Given the description of an element on the screen output the (x, y) to click on. 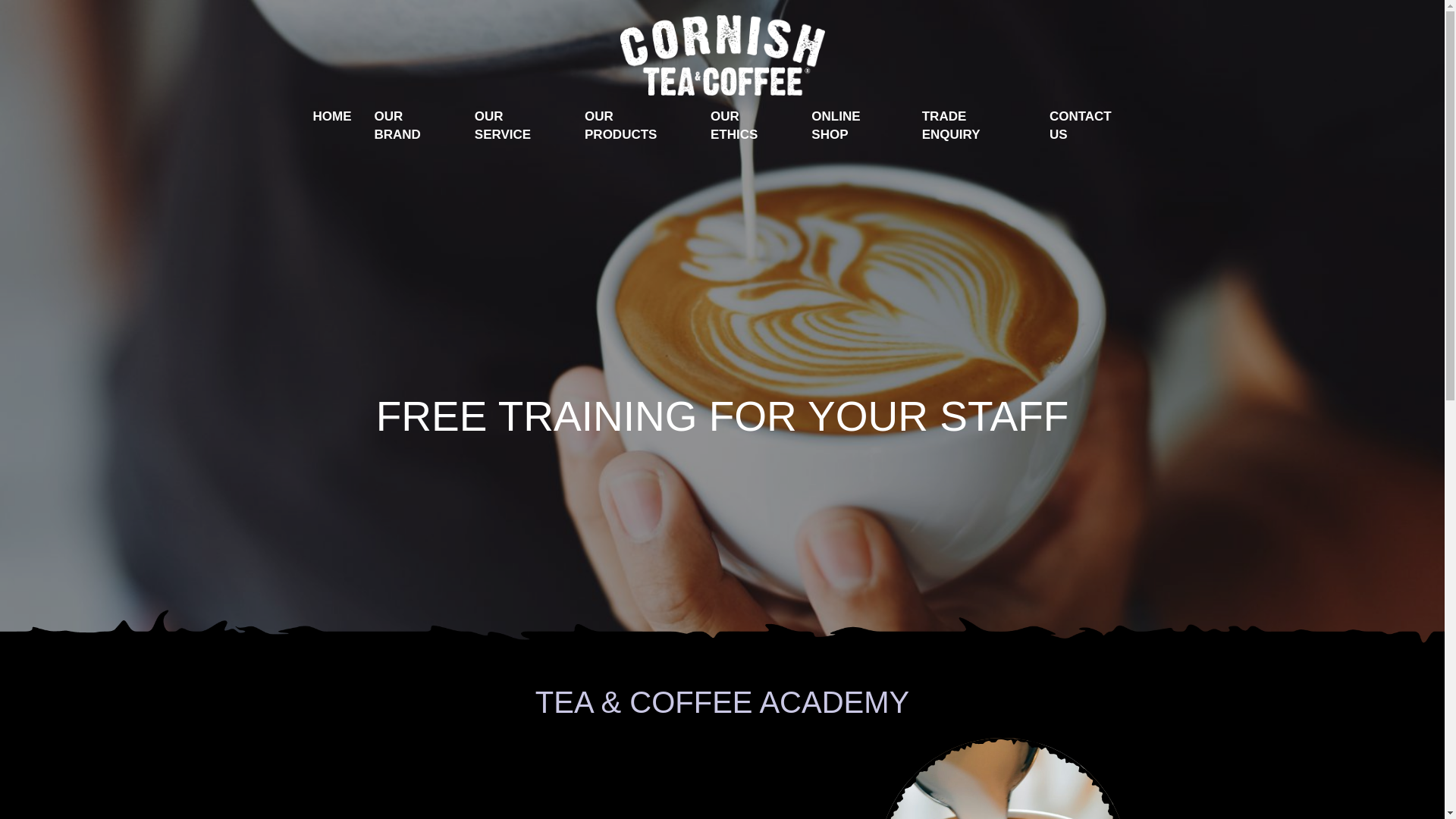
ONLINE SHOP (854, 126)
OUR SERVICE (518, 126)
OUR BRAND (412, 126)
OUR ETHICS (748, 126)
OUR PRODUCTS (635, 126)
HOME (331, 116)
TRADE ENQUIRY (974, 126)
CONTACT US (1090, 126)
